Given the description of an element on the screen output the (x, y) to click on. 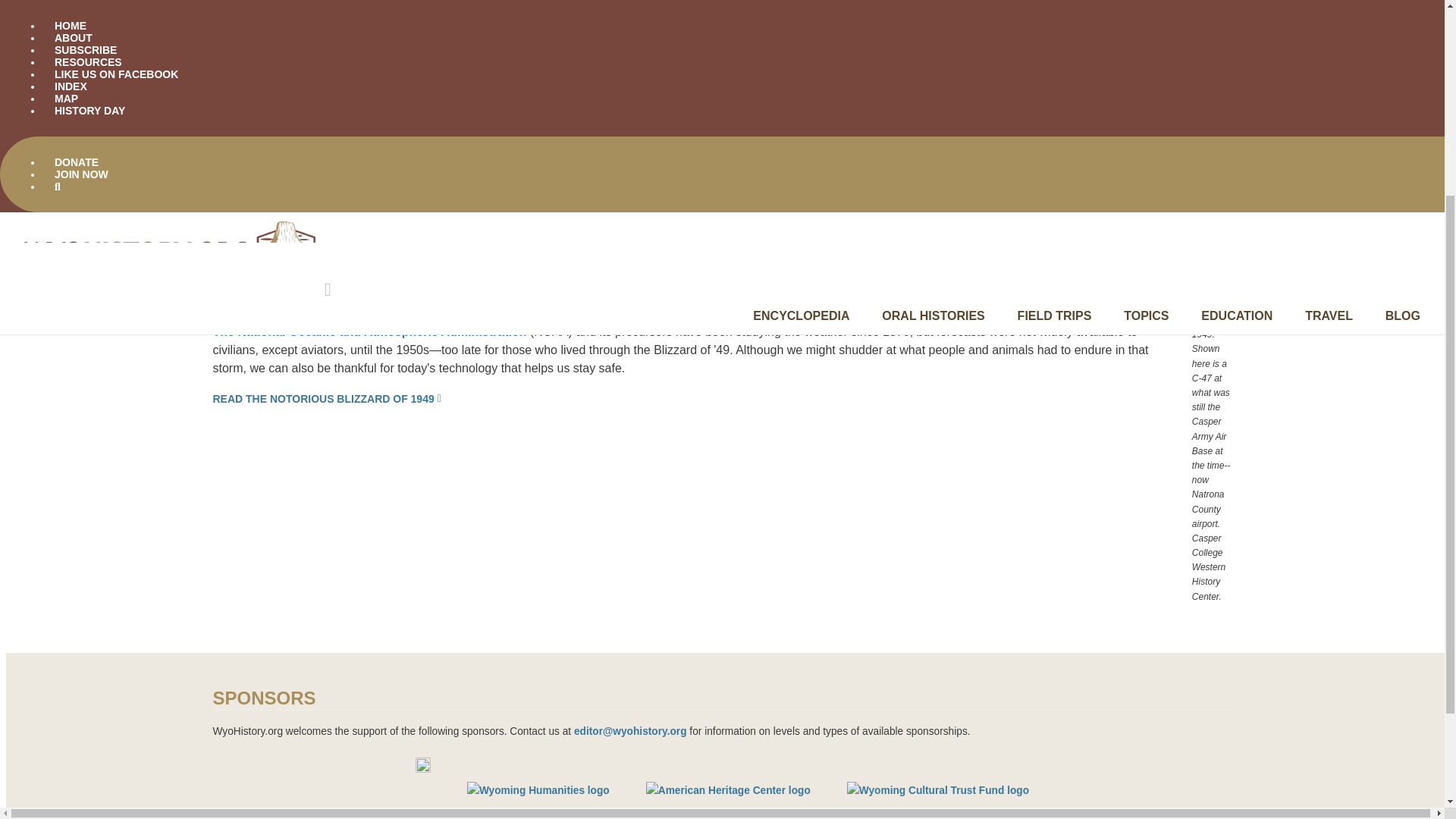
TRAVEL (1328, 28)
EDUCATION (1236, 28)
FIELD TRIPS (1054, 28)
TOPICS (1146, 28)
ORAL HISTORIES (933, 28)
ENCYCLOPEDIA (800, 28)
